Given the description of an element on the screen output the (x, y) to click on. 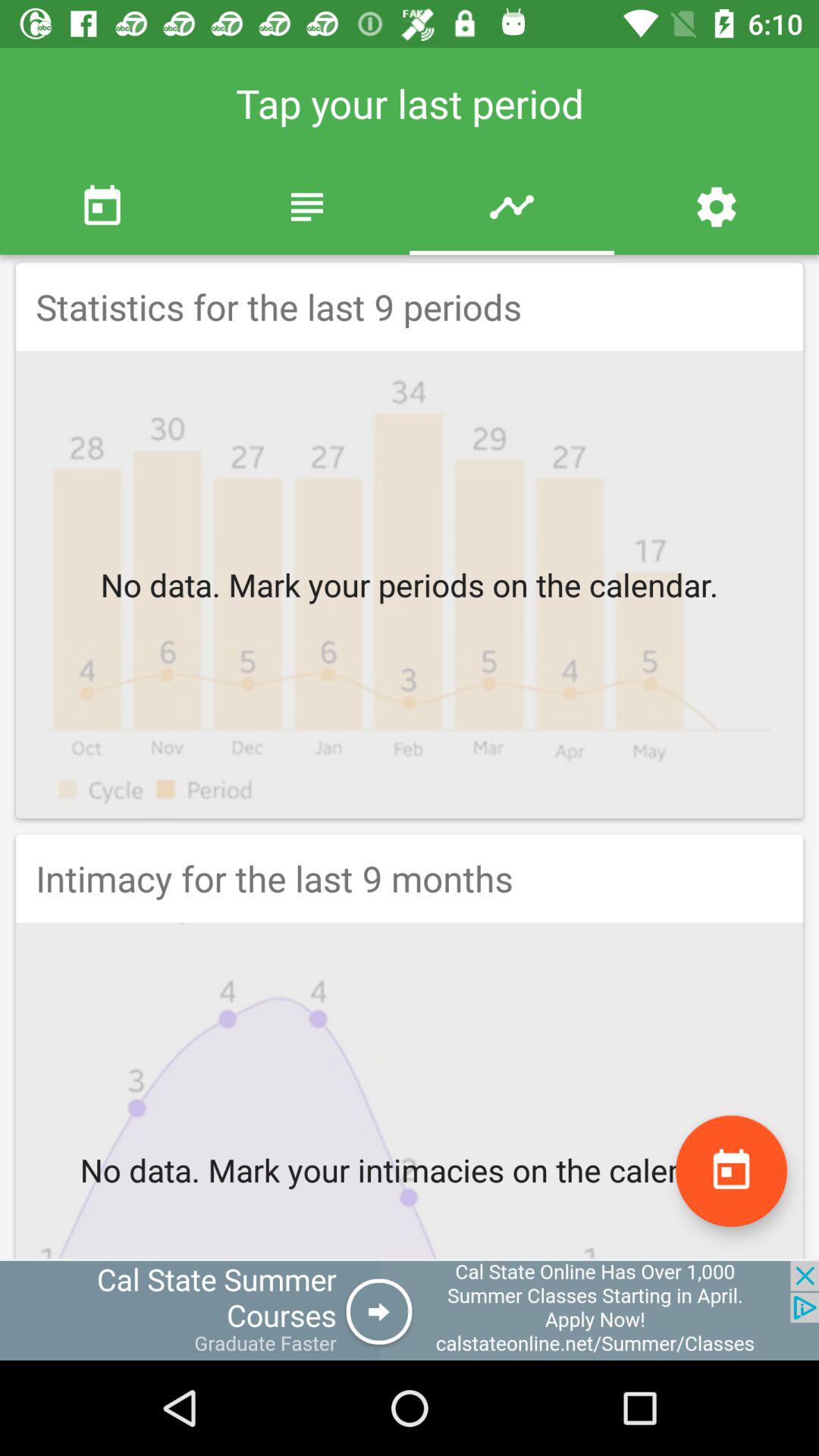
calendar (731, 1170)
